Given the description of an element on the screen output the (x, y) to click on. 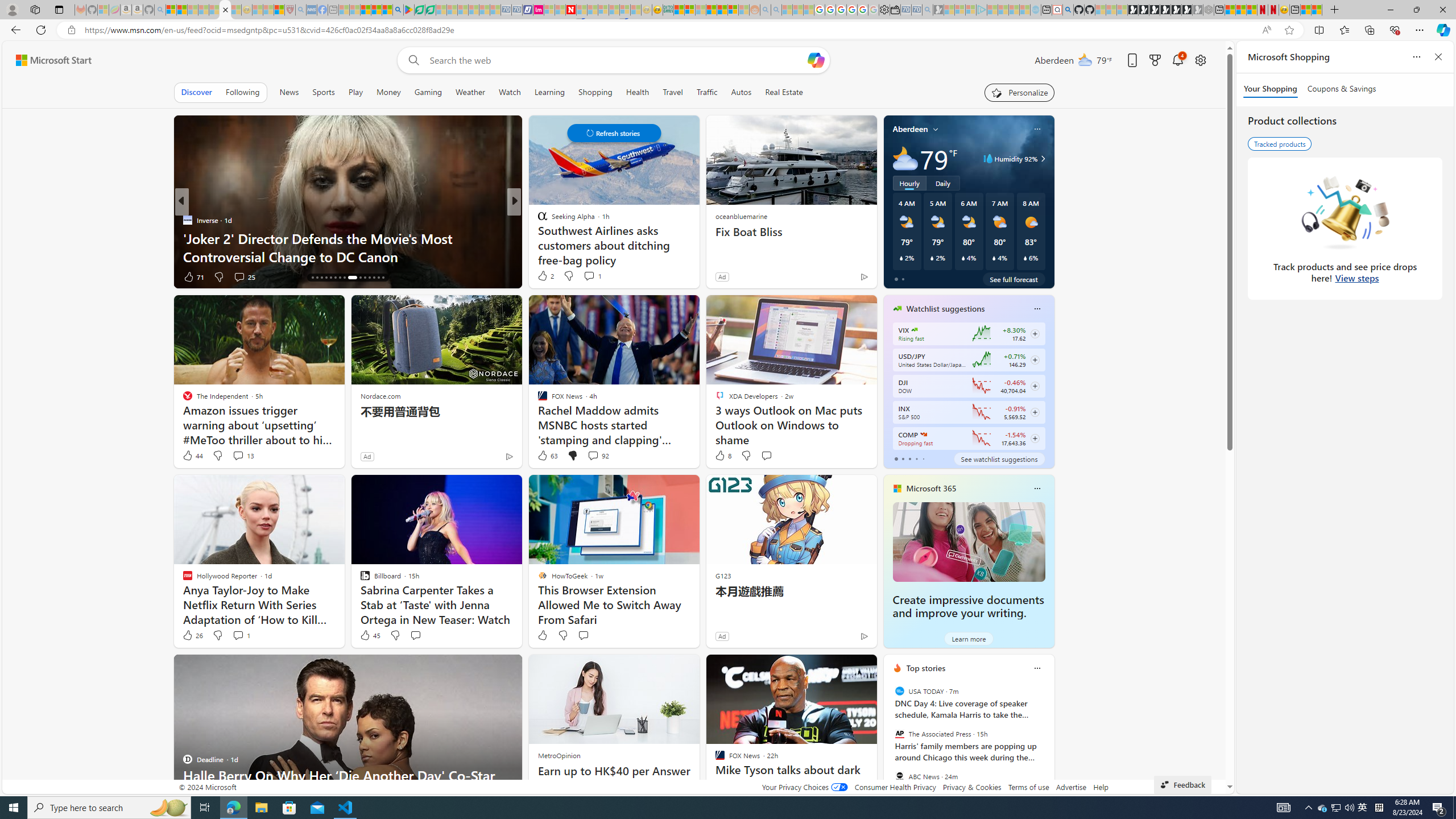
View comments 9 Comment (589, 276)
tab-4 (923, 458)
Kinda Frugal - MSN (721, 9)
previous (888, 741)
Jobs - lastminute.com Investor Portal (538, 9)
Open Copilot (815, 59)
AutomationID: tab-29 (378, 277)
AutomationID: tab-26 (364, 277)
Recipes - MSN - Sleeping (257, 9)
Hourly (909, 183)
